Given the description of an element on the screen output the (x, y) to click on. 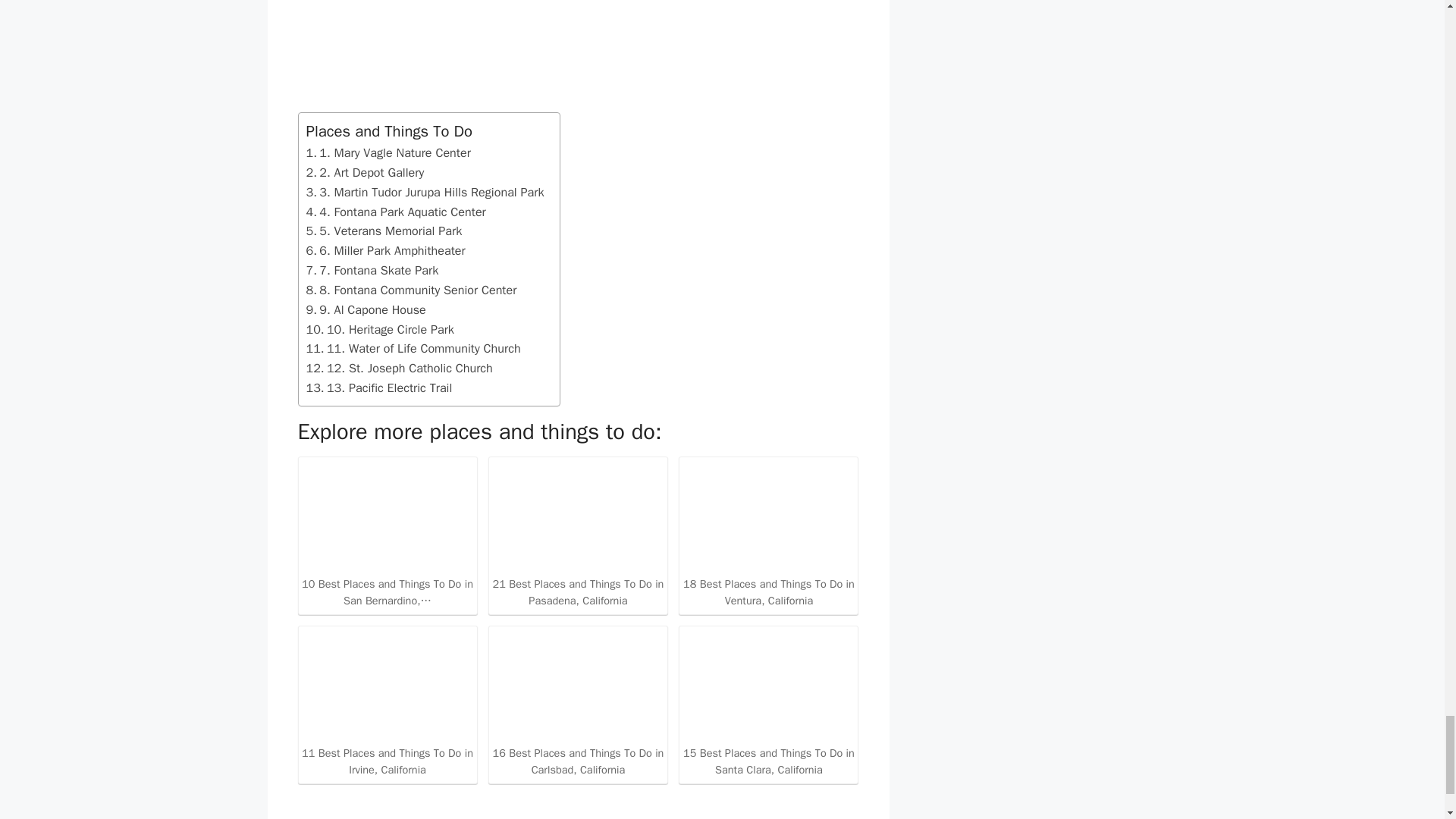
16 Best Places and Things To Do in Carlsbad, California (578, 703)
8. Fontana Community Senior Center (410, 290)
5. Veterans Memorial Park (384, 230)
13. Pacific Electric Trail (378, 388)
21 Best Places and Things To Do in Pasadena, California (578, 534)
11. Water of Life Community Church (413, 348)
15 Best Places and Things To Do in Santa Clara, California (768, 703)
10. Heritage Circle Park (379, 329)
6. Miller Park Amphitheater (385, 250)
7. Fontana Skate Park (372, 270)
18 Best Places and Things To Do in Ventura, California (768, 534)
4. Fontana Park Aquatic Center (395, 211)
9. Al Capone House (365, 310)
5. Veterans Memorial Park (384, 230)
10. Heritage Circle Park (379, 329)
